Given the description of an element on the screen output the (x, y) to click on. 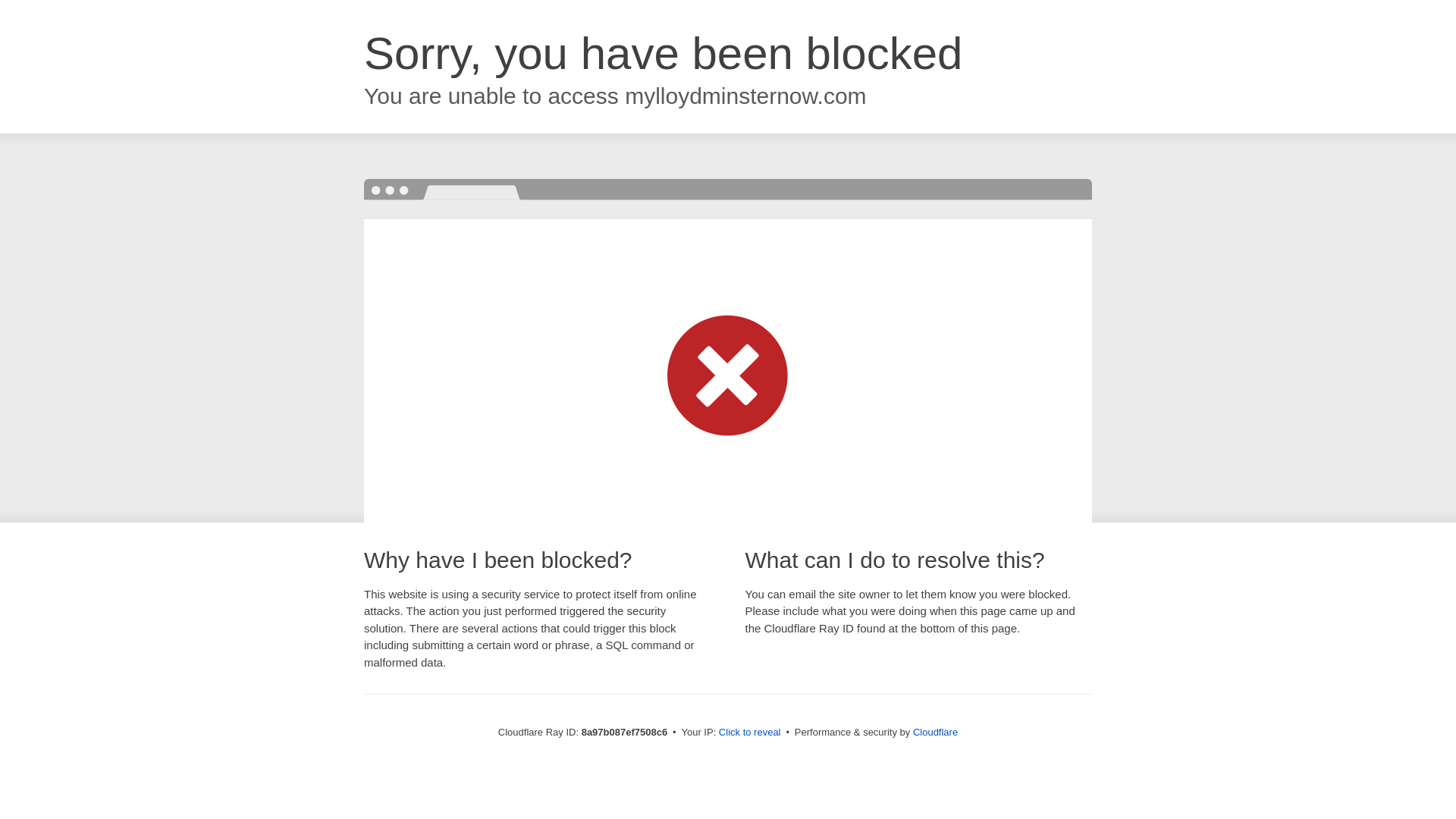
Click to reveal (749, 732)
Cloudflare (935, 731)
